Given the description of an element on the screen output the (x, y) to click on. 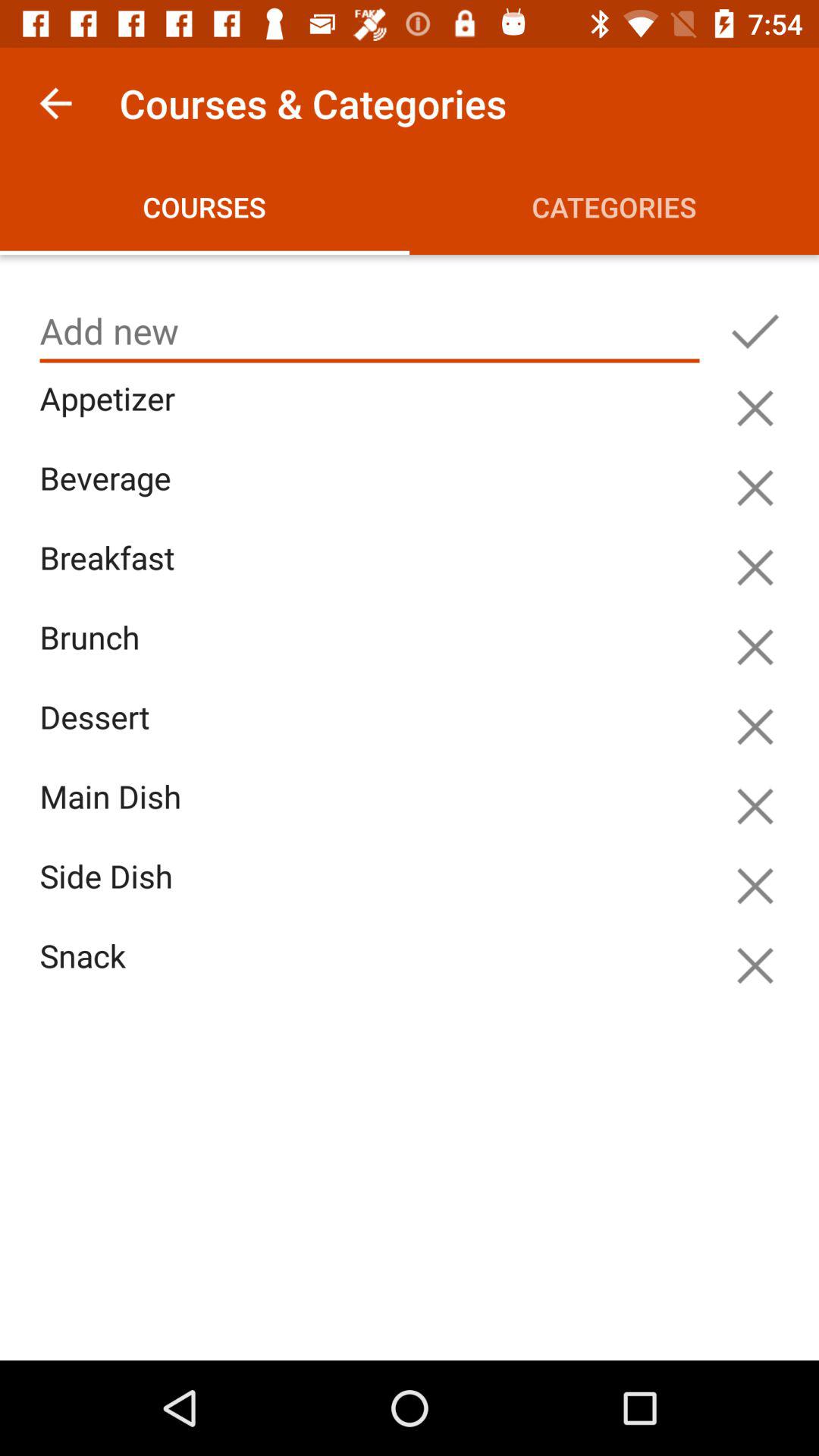
click dessert item (373, 734)
